Given the description of an element on the screen output the (x, y) to click on. 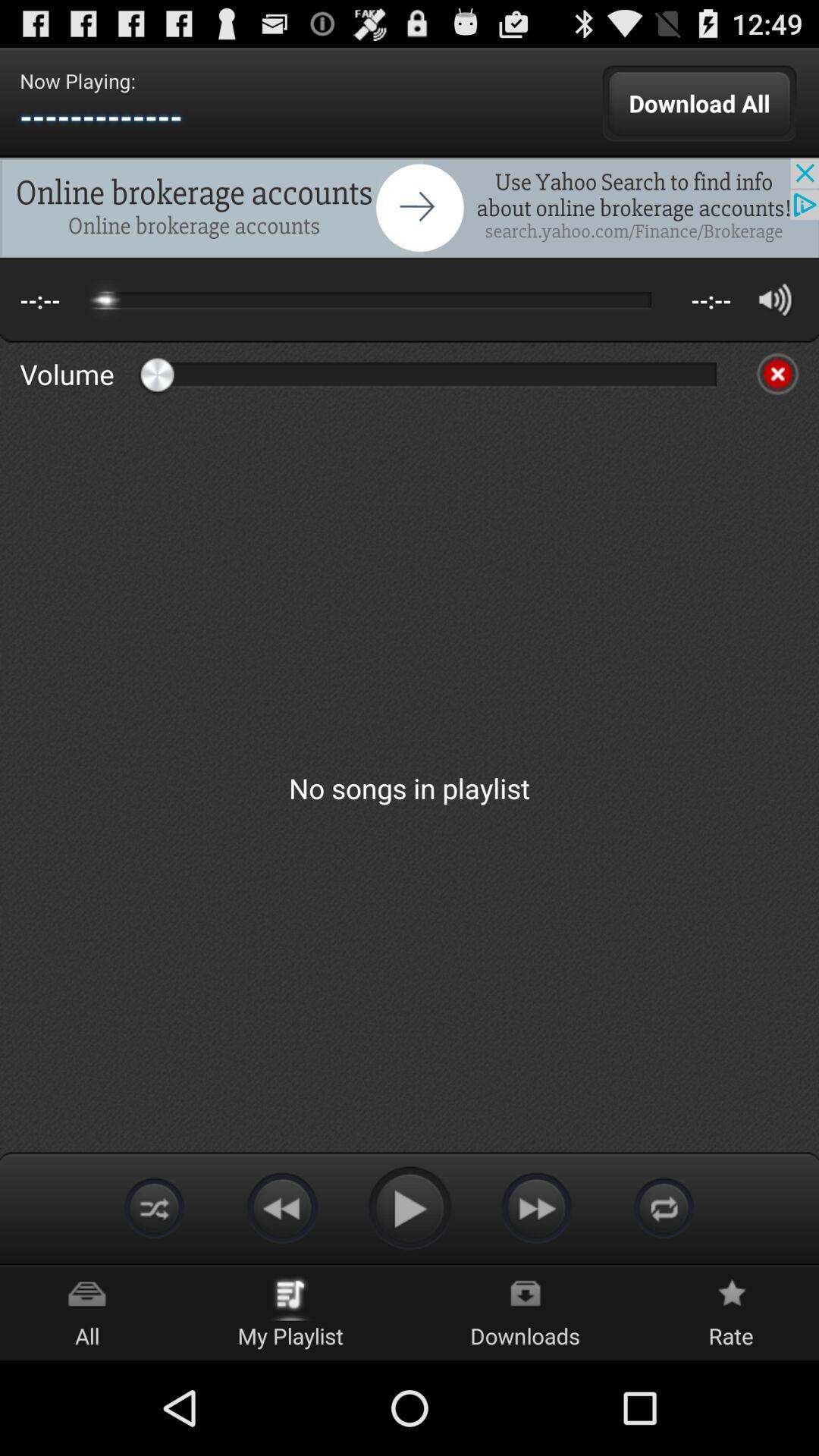
close volume (777, 373)
